Given the description of an element on the screen output the (x, y) to click on. 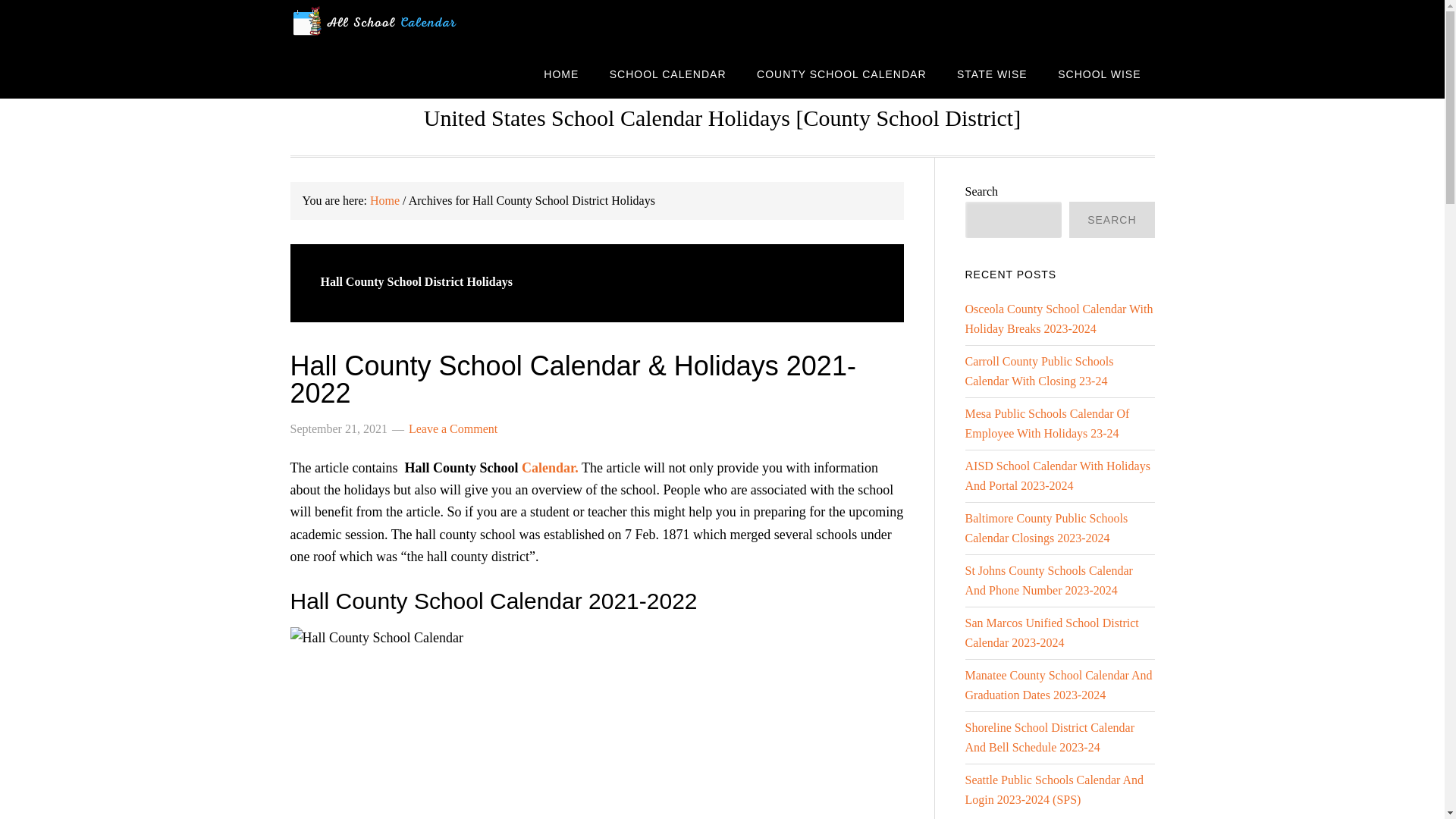
COUNTY SCHOOL CALENDAR (840, 73)
HOME (560, 73)
SCHOOL CALENDAR (667, 73)
ALL SCHOOL CALENDAR (410, 24)
